Given the description of an element on the screen output the (x, y) to click on. 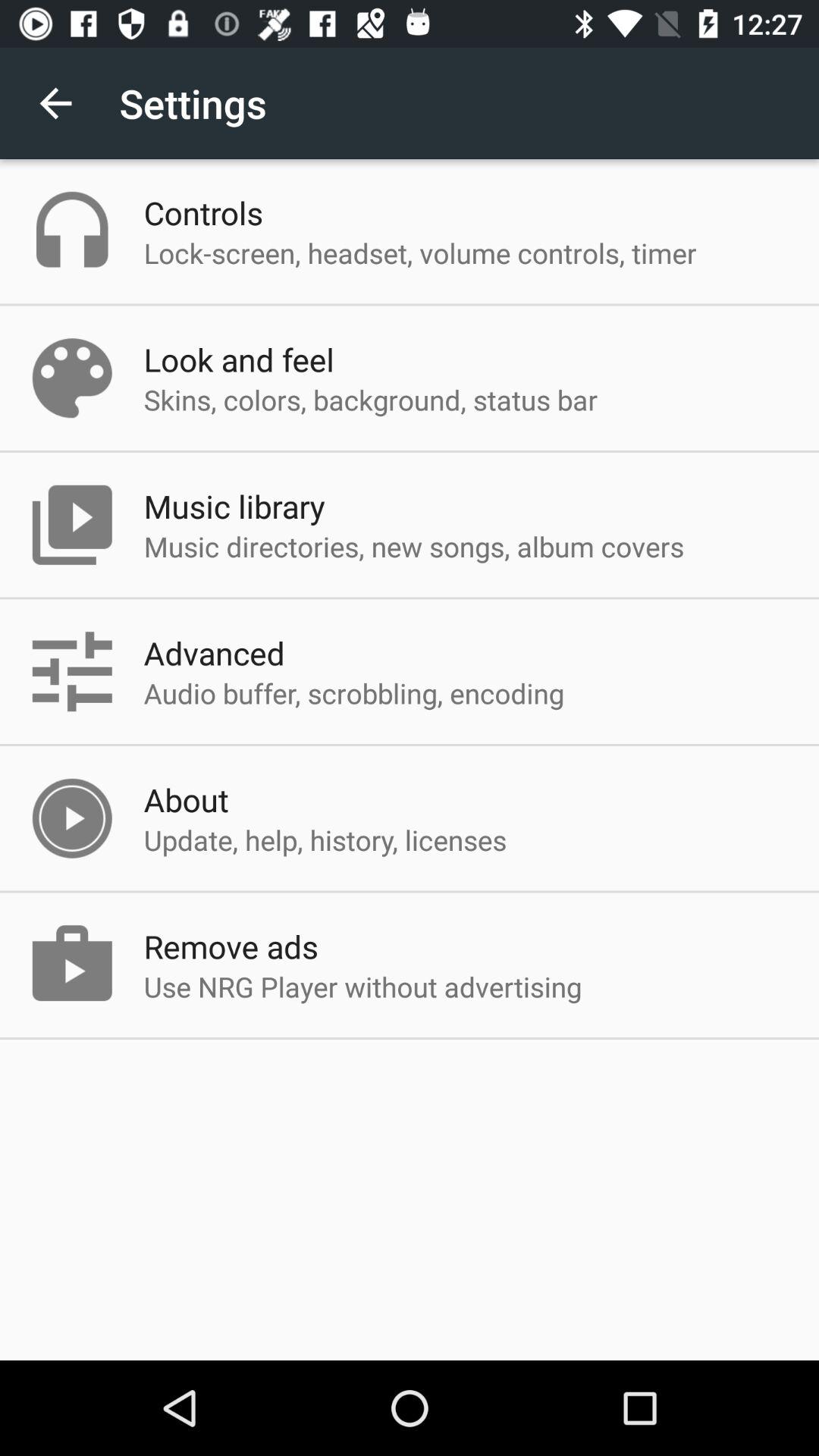
choose app above the advanced (413, 546)
